Given the description of an element on the screen output the (x, y) to click on. 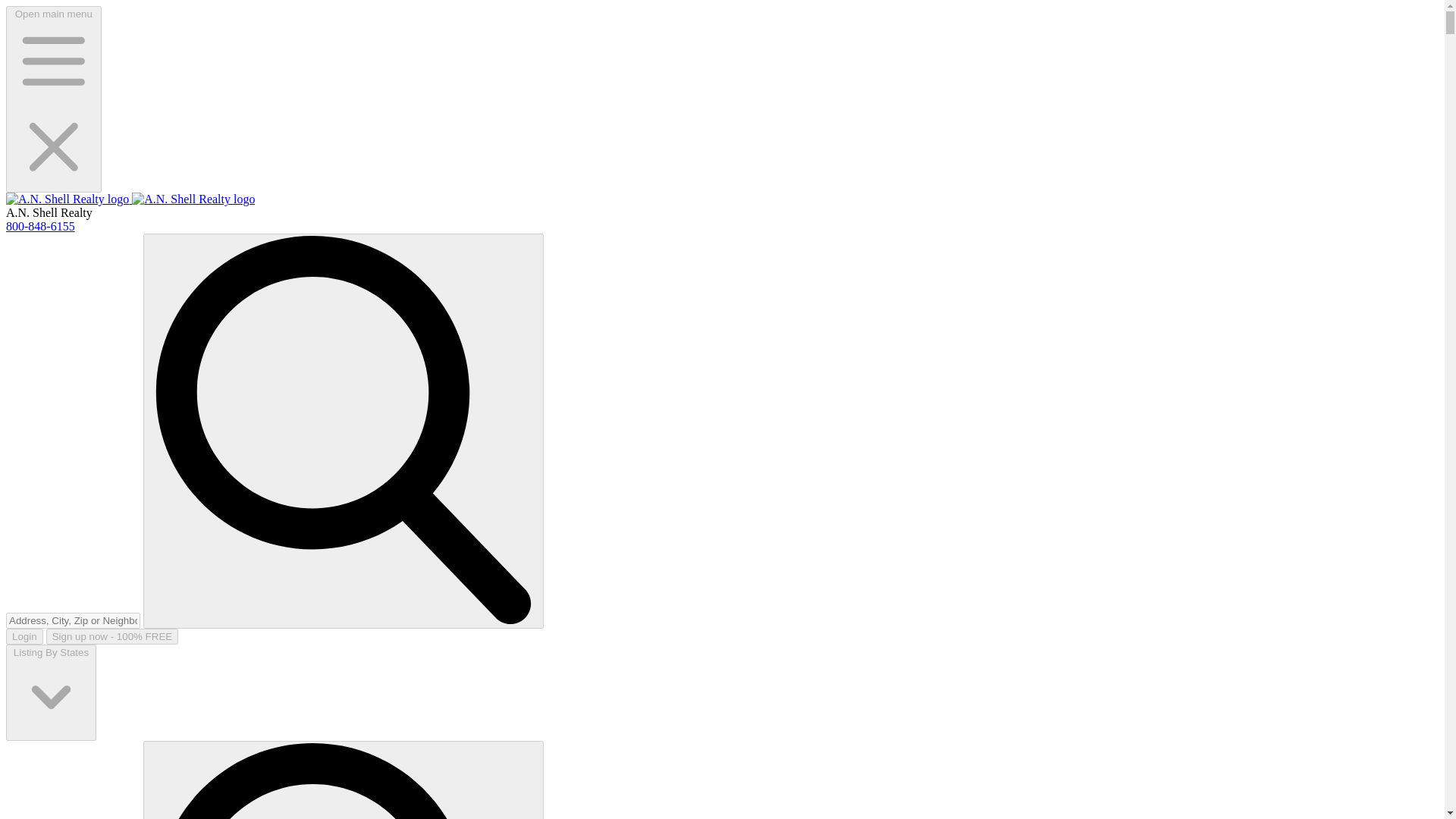
Listing By States (50, 692)
Open main menu (53, 98)
Login (24, 636)
800-848-6155 (40, 226)
